Given the description of an element on the screen output the (x, y) to click on. 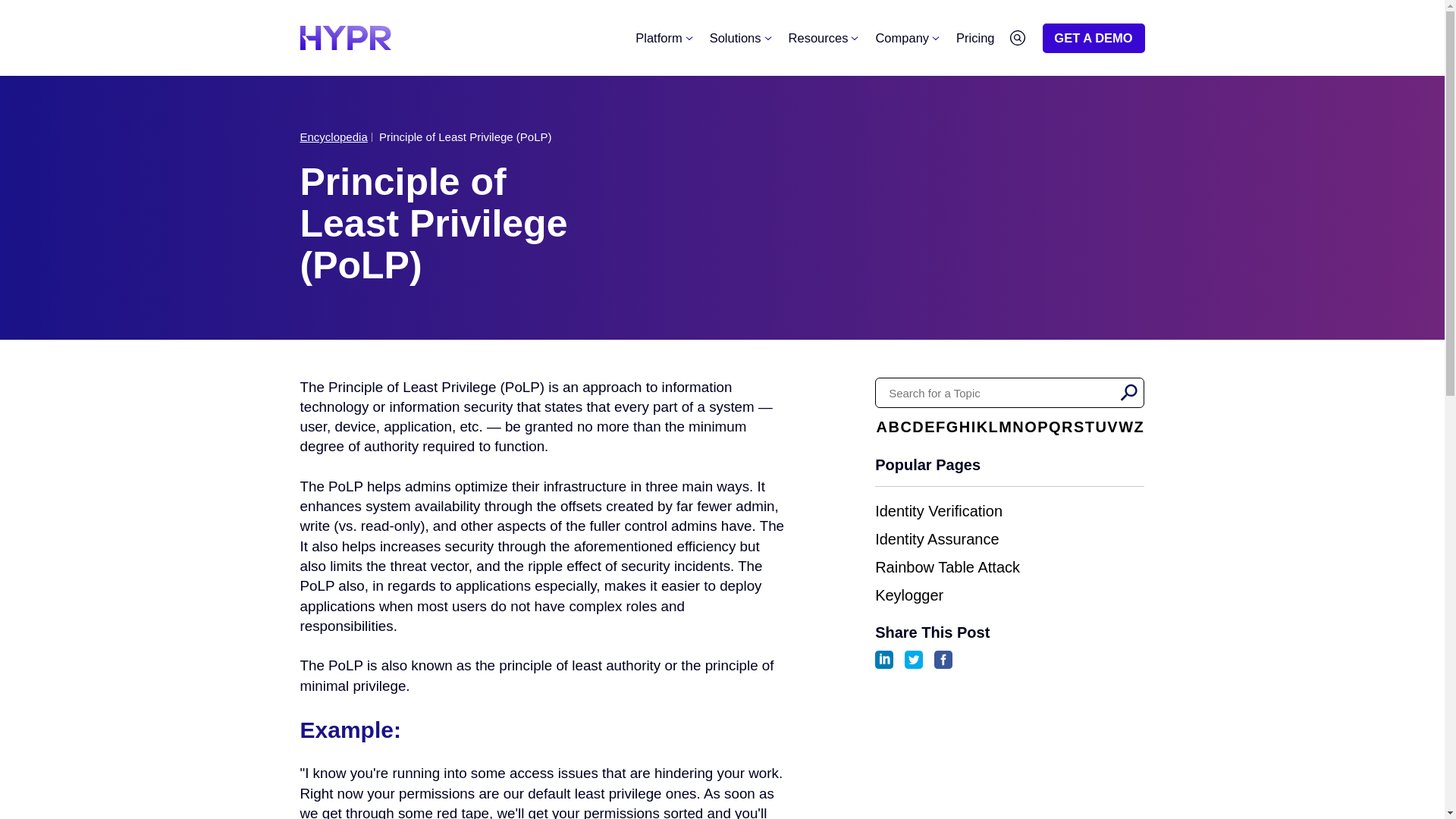
Solutions (740, 37)
Resources (823, 37)
Platform (662, 37)
